Given the description of an element on the screen output the (x, y) to click on. 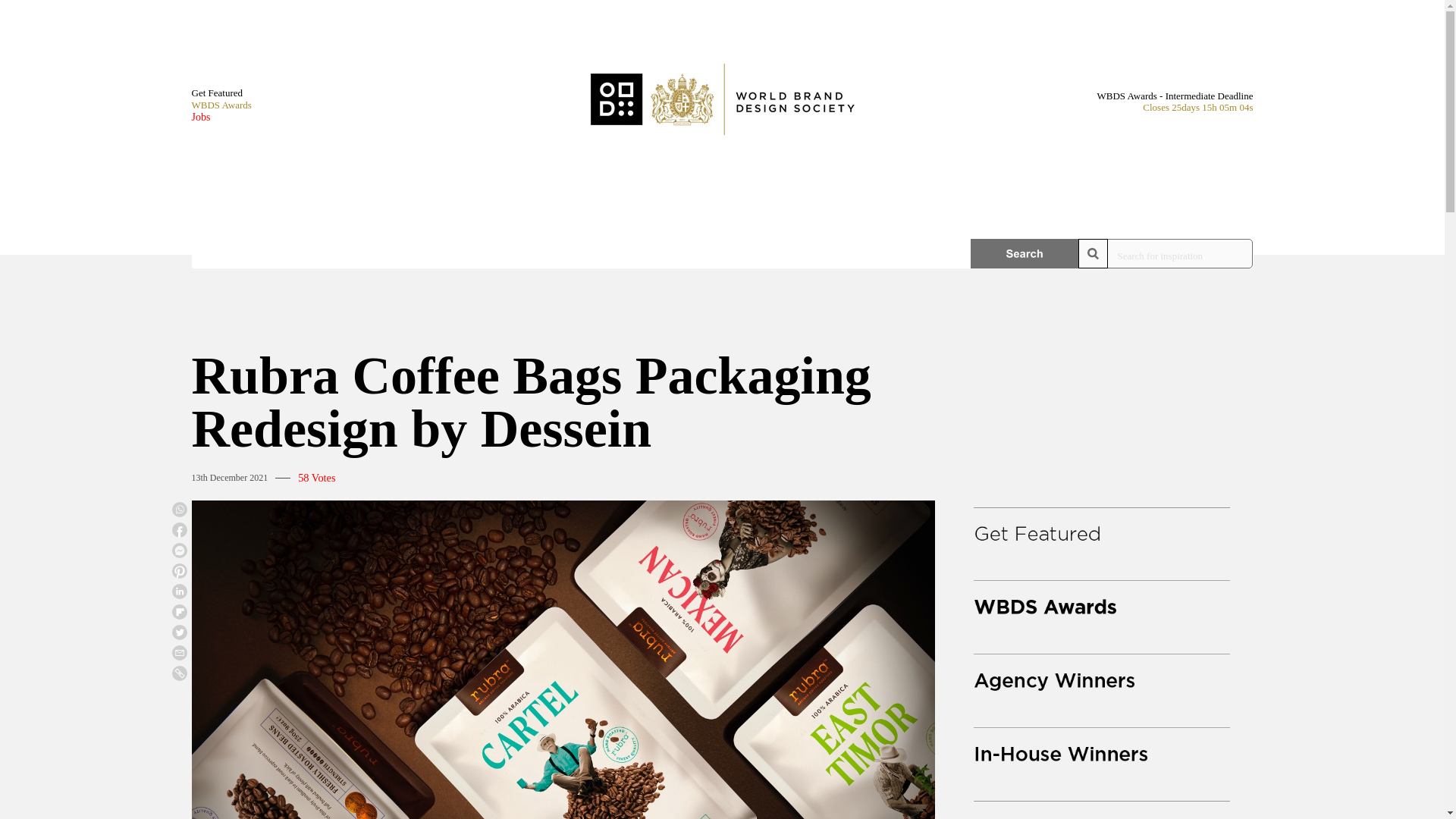
WBDS Awards (220, 104)
Get Featured (220, 92)
Jobs (220, 117)
Search (1024, 253)
Search (1024, 253)
